Given the description of an element on the screen output the (x, y) to click on. 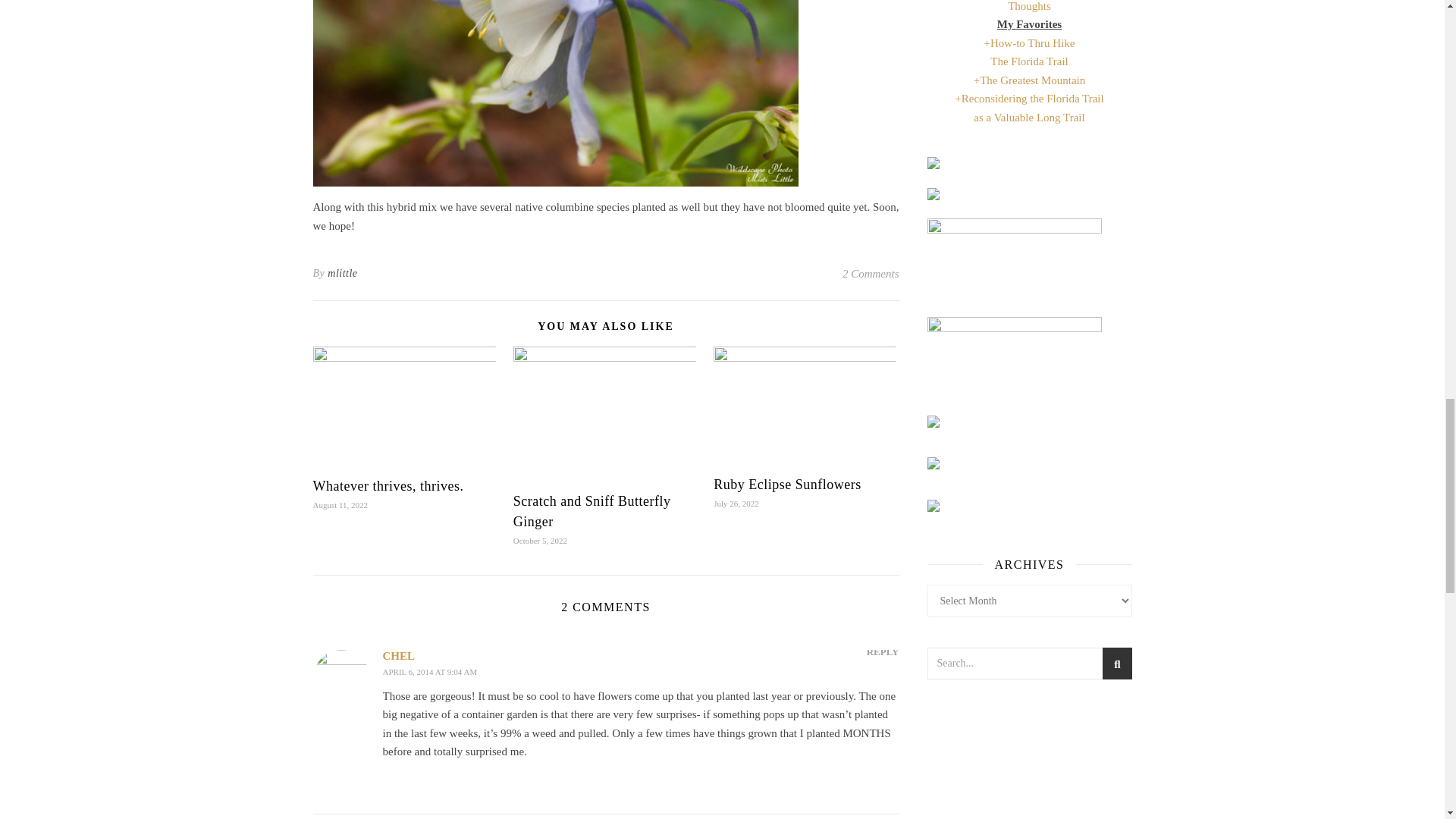
REPLY (882, 651)
mckanna3 by M.  Little, on Flickr (605, 93)
Whatever thrives, thrives. (388, 485)
CHEL (397, 655)
APRIL 6, 2014 AT 9:04 AM (429, 671)
Posts by mlittle (341, 273)
Scratch and Sniff Butterfly Ginger (592, 511)
mlittle (341, 273)
Ruby Eclipse Sunflowers (786, 484)
2 Comments (871, 273)
